Given the description of an element on the screen output the (x, y) to click on. 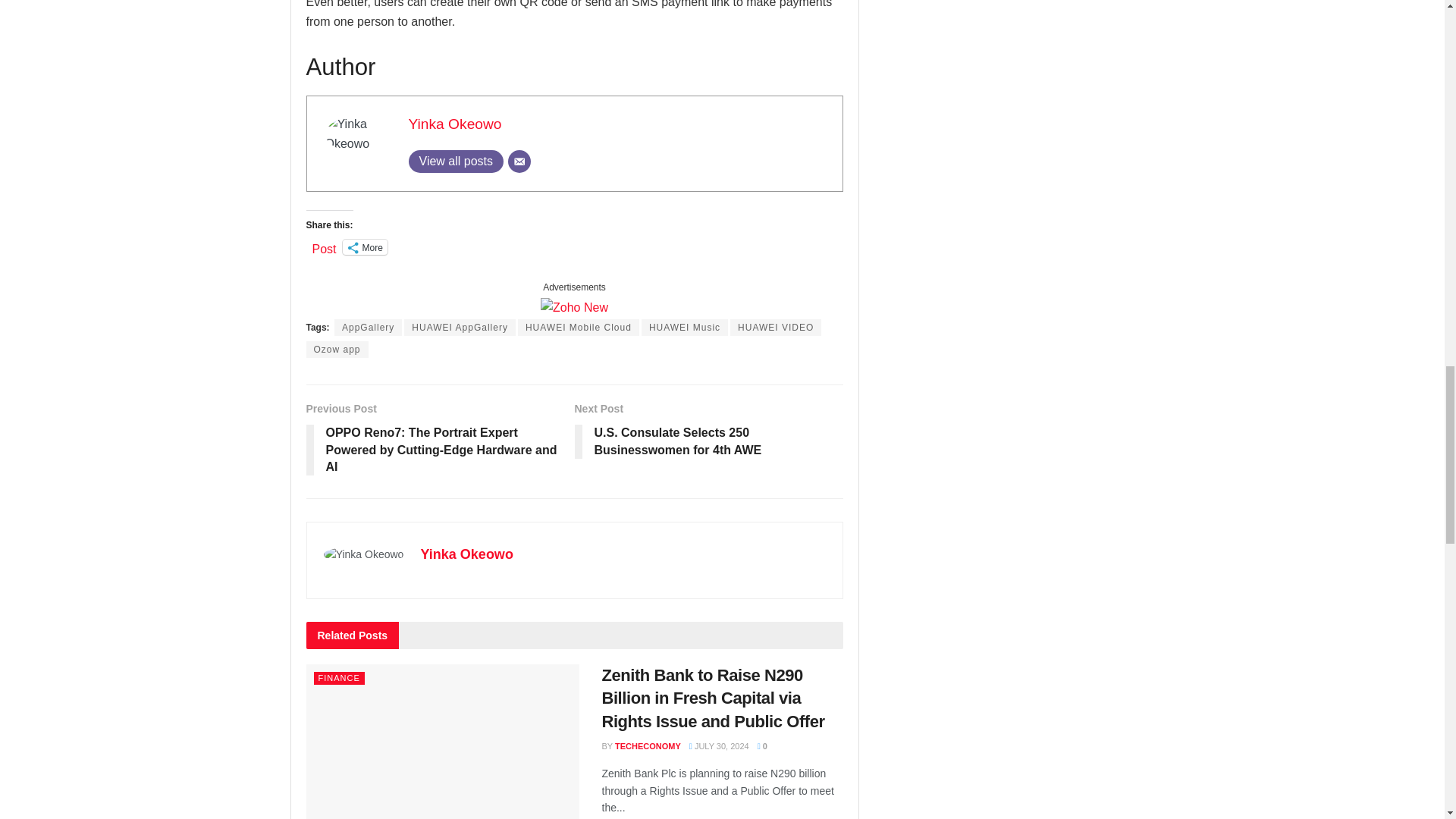
View all posts (455, 160)
Yinka Okeowo (453, 123)
